Given the description of an element on the screen output the (x, y) to click on. 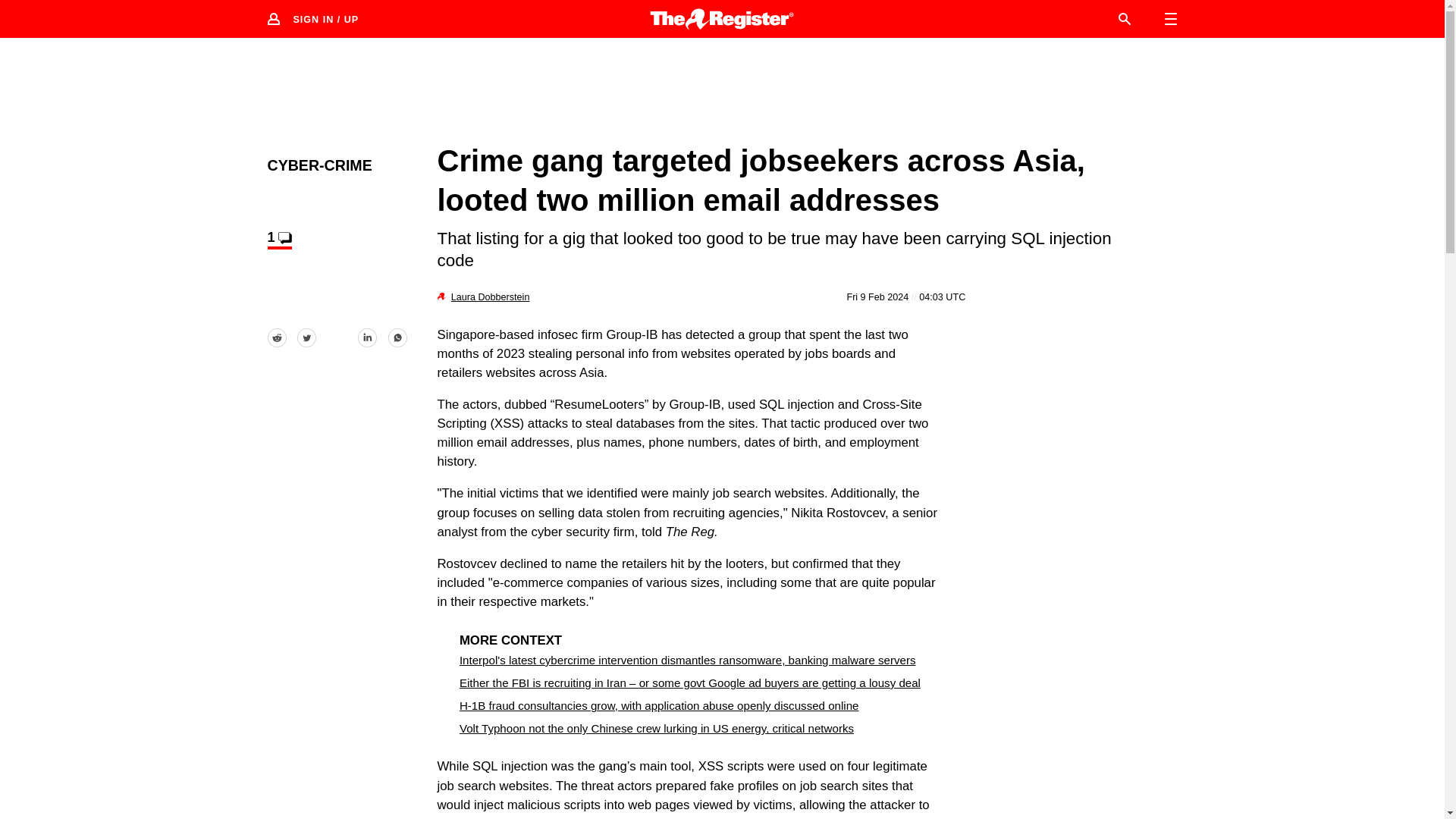
View comments on this article (278, 239)
Read more by this author (490, 297)
